Given the description of an element on the screen output the (x, y) to click on. 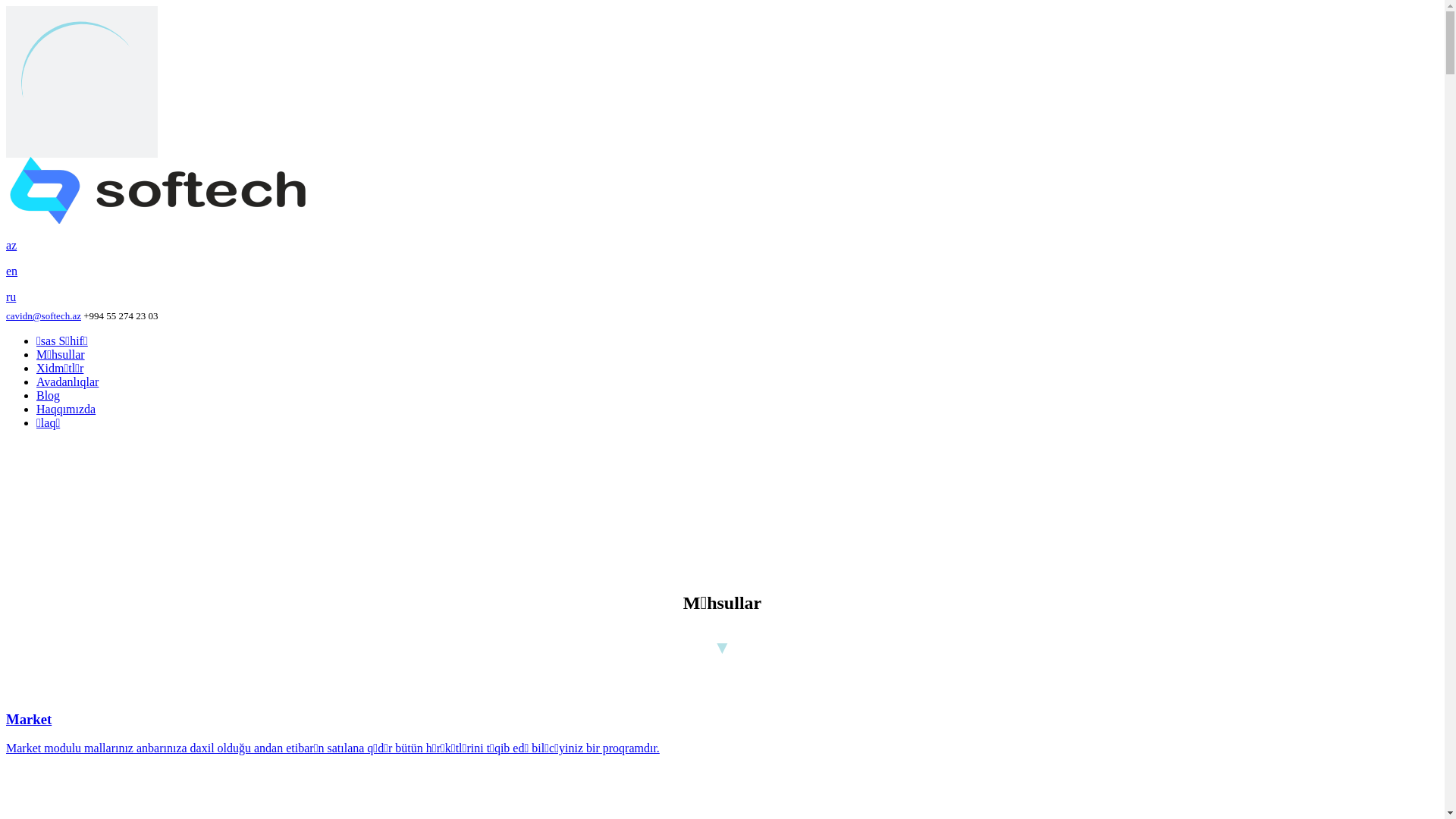
az Element type: text (722, 245)
Blog Element type: text (47, 395)
ru Element type: text (722, 297)
cavidn@softech.az Element type: text (43, 315)
en Element type: text (722, 271)
